Given the description of an element on the screen output the (x, y) to click on. 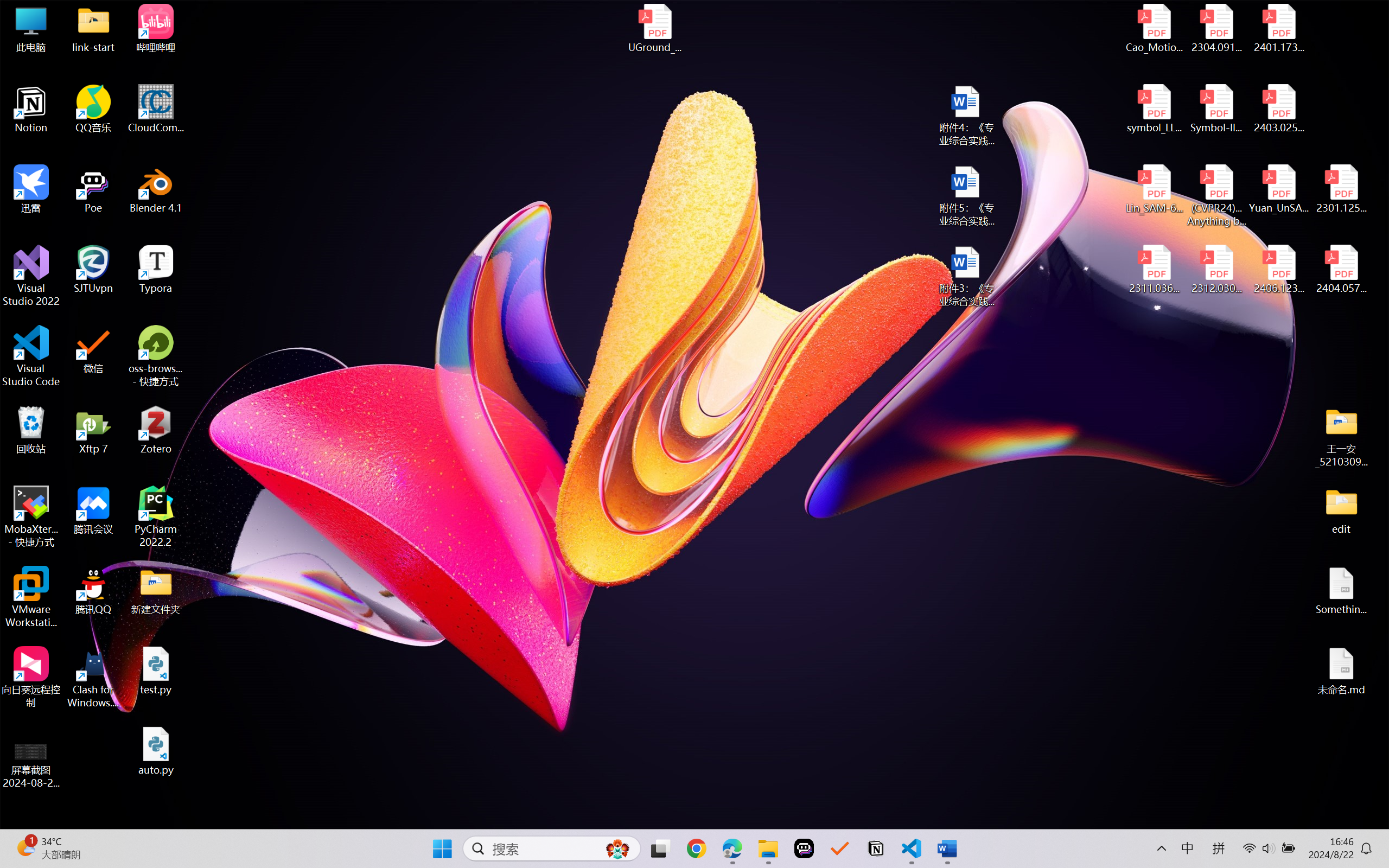
SJTUvpn (93, 269)
auto.py (156, 751)
Visual Studio Code (31, 355)
Symbol-llm-v2.pdf (1216, 109)
edit (1340, 510)
CloudCompare (156, 109)
test.py (156, 670)
